Given the description of an element on the screen output the (x, y) to click on. 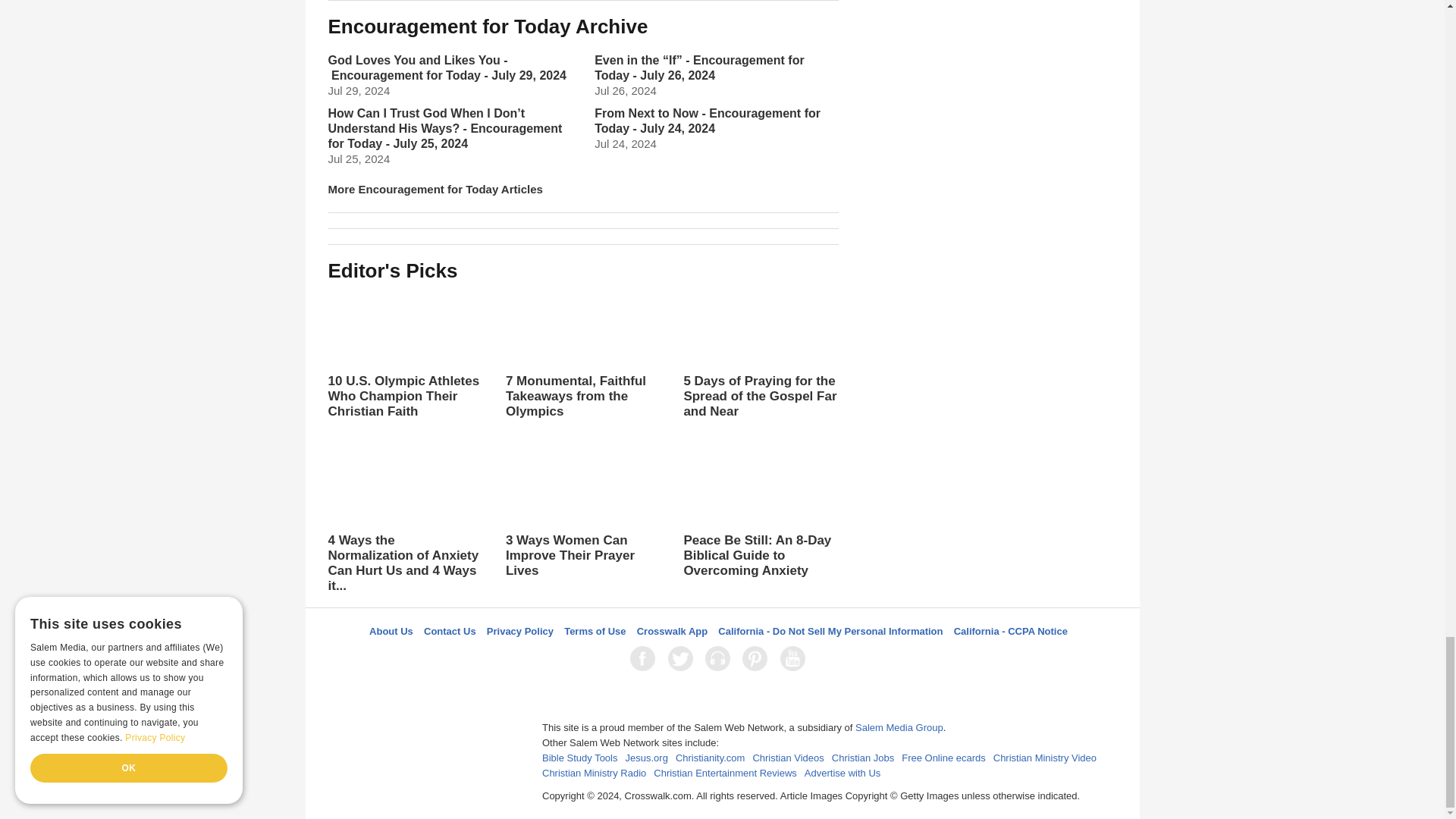
7 Monumental, Faithful Takeaways from the Olympics (583, 354)
10 U.S. Olympic Athletes Who Champion Their Christian Faith (404, 354)
3 Ways Women Can Improve Their Prayer Lives (583, 512)
5 Days of Praying for the Spread of the Gospel Far and Near (760, 368)
